Given the description of an element on the screen output the (x, y) to click on. 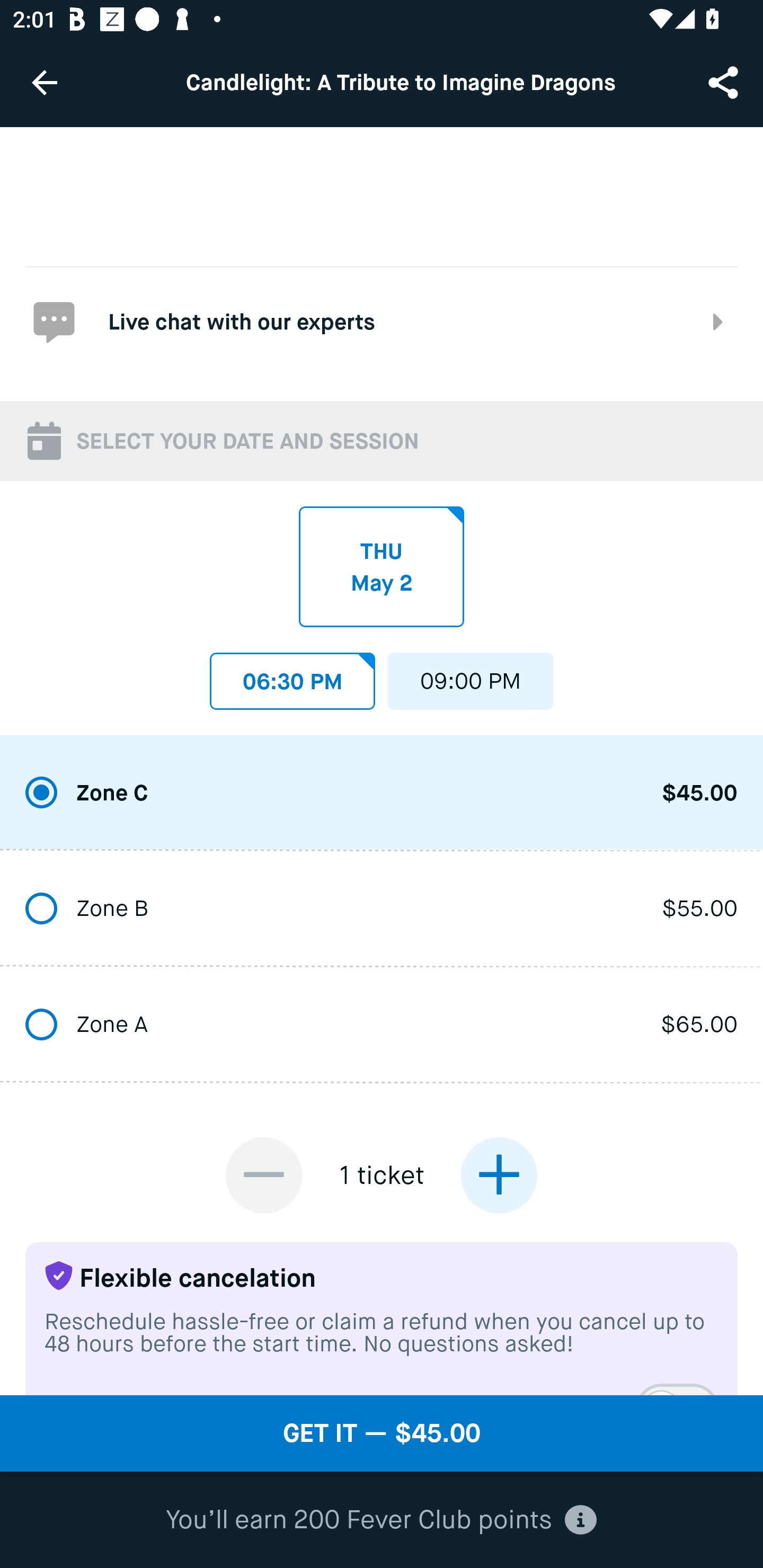
Navigate up (44, 82)
Share (724, 81)
Live chat with our experts (381, 321)
THU
May 2 (381, 566)
06:30 PM (292, 676)
09:00 PM (470, 676)
Zone C $45.00 (381, 793)
Zone B $55.00 (381, 909)
Zone A $65.00 (381, 1025)
decrease (263, 1174)
increase (498, 1174)
GET IT — $45.00 (381, 1433)
You’ll earn 200 Fever Club points (380, 1519)
